Given the description of an element on the screen output the (x, y) to click on. 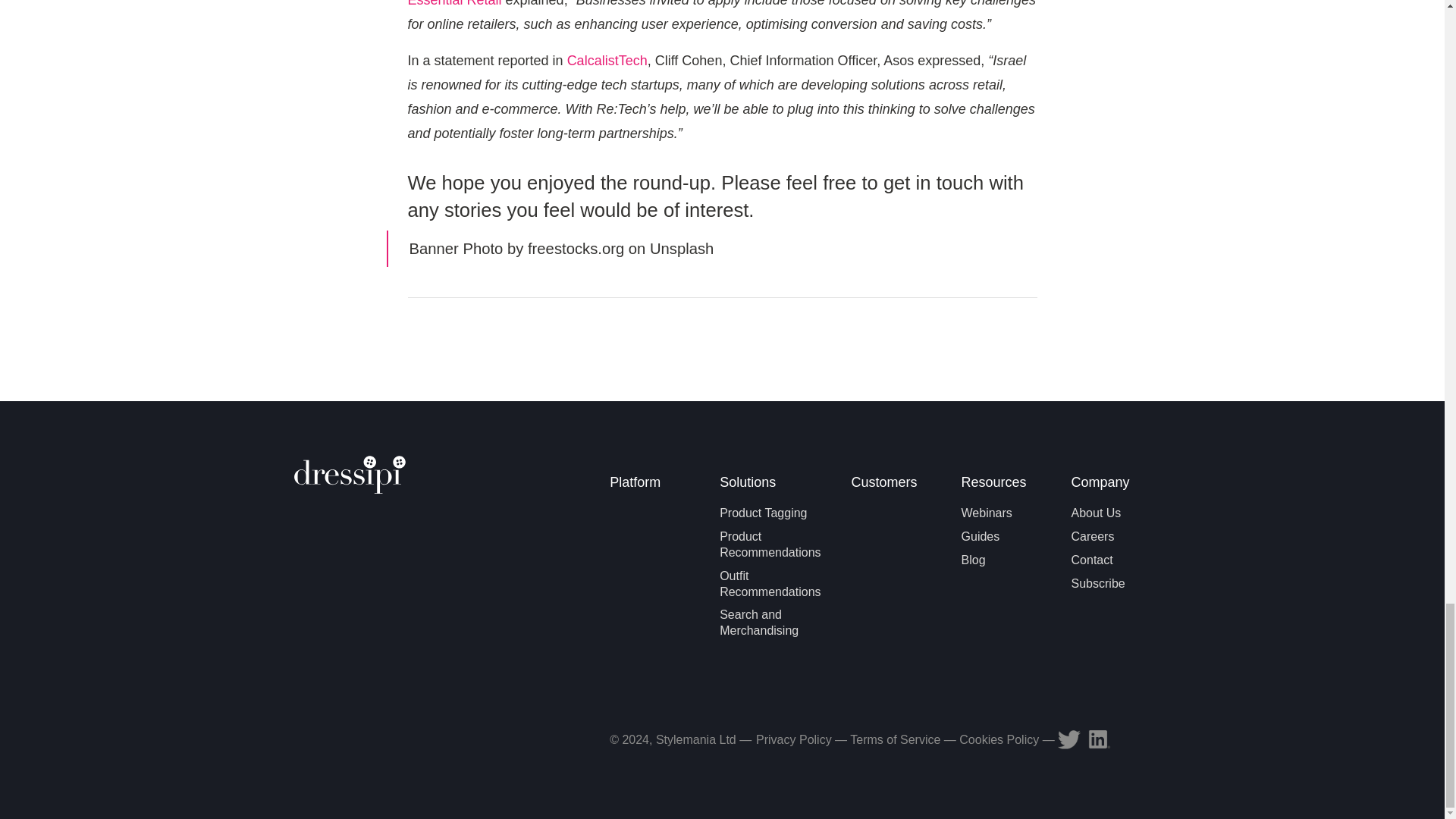
Platform (649, 485)
CalcalistTech (607, 60)
Product Tagging (762, 512)
Outfit Recommendations (770, 583)
Customers (891, 485)
Webinars (985, 512)
Essential Retail (454, 3)
Search and Merchandising (758, 622)
Guides (980, 535)
Product Recommendations (770, 543)
